Given the description of an element on the screen output the (x, y) to click on. 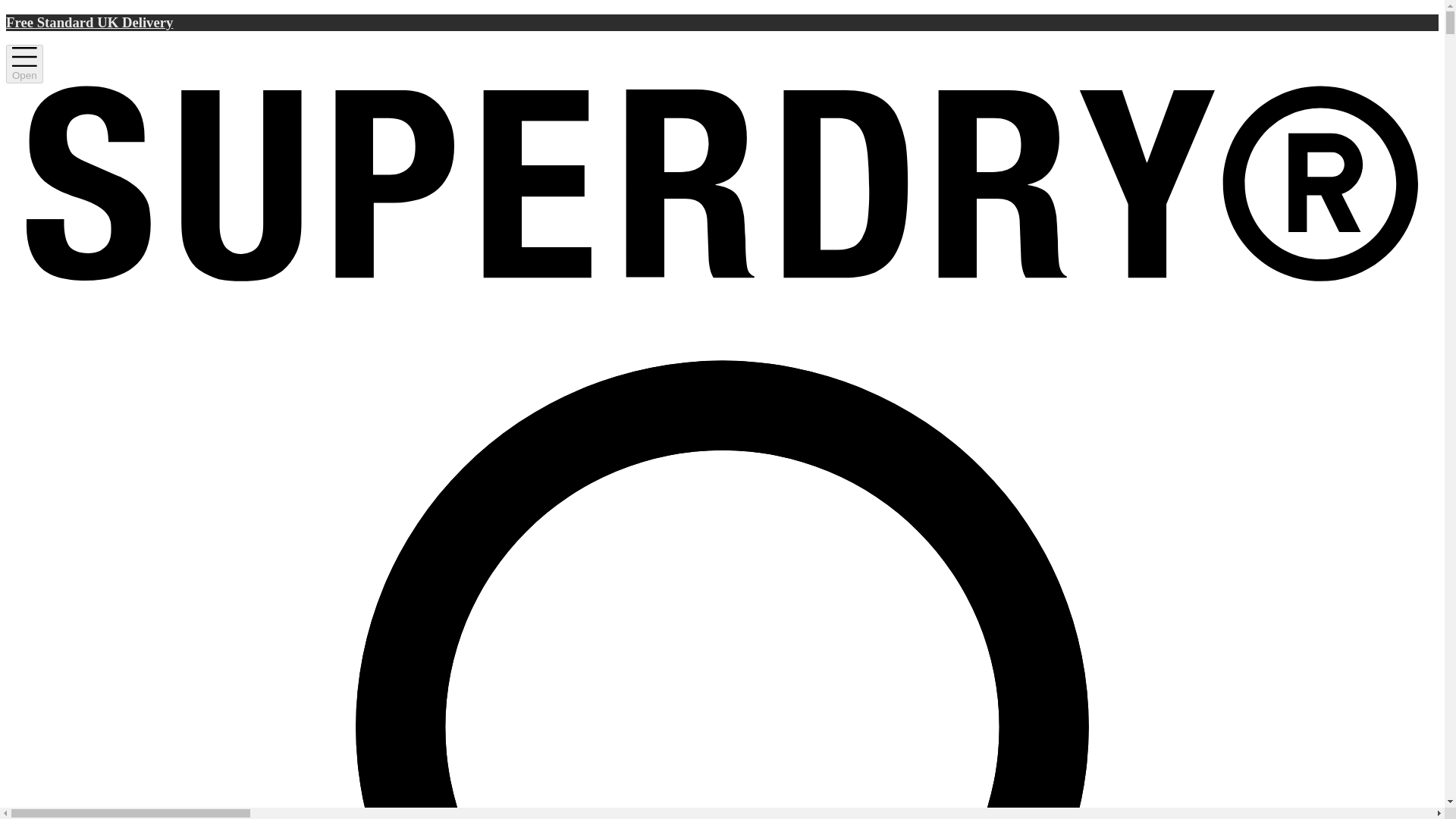
Open (24, 63)
Hamburger (24, 63)
Free Standard UK Delivery (721, 22)
Open (24, 63)
